Given the description of an element on the screen output the (x, y) to click on. 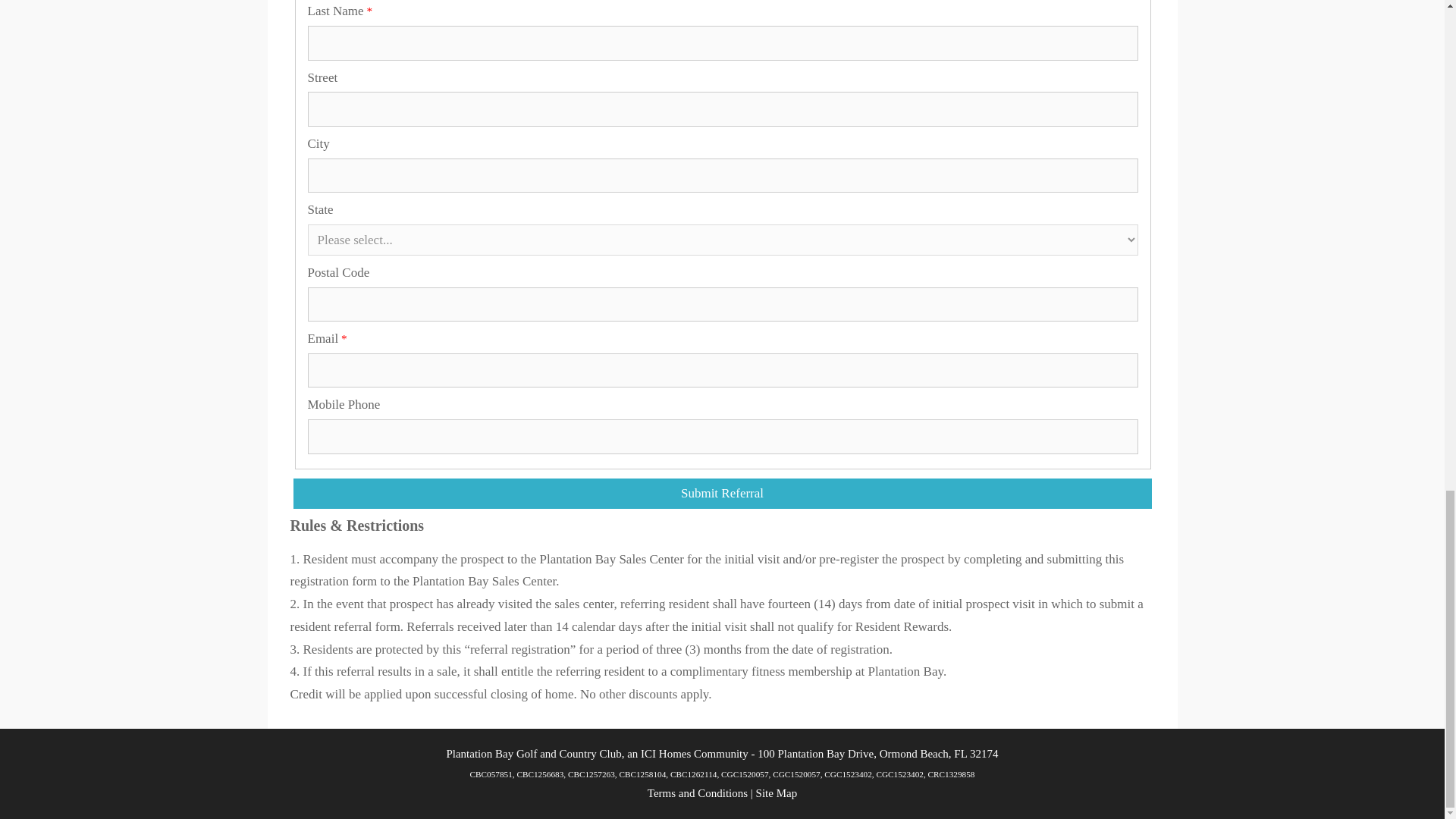
Submit Referral (721, 493)
Street (722, 108)
Last Name (722, 42)
